Given the description of an element on the screen output the (x, y) to click on. 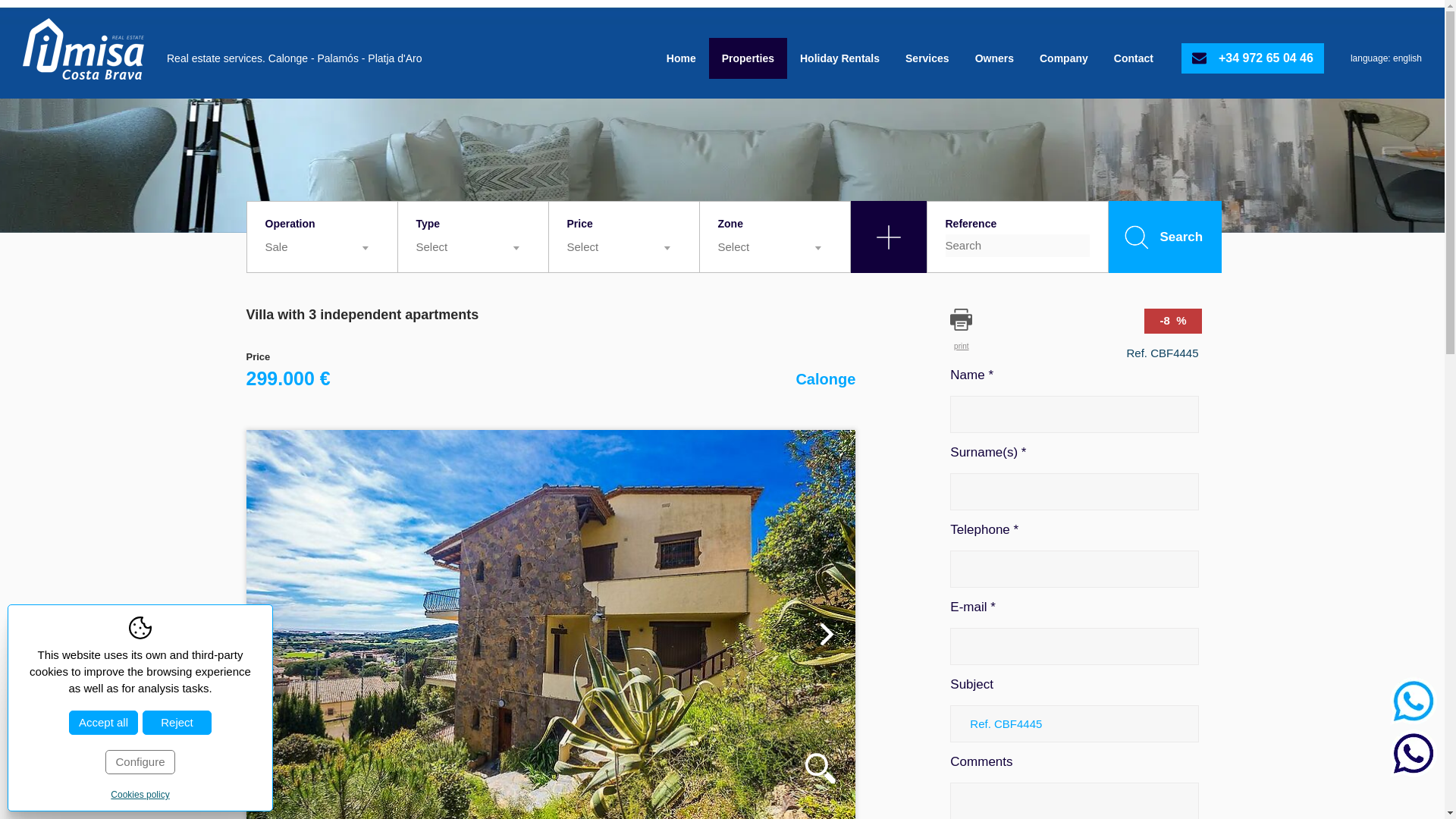
Search (1165, 236)
Company (1063, 57)
Services (927, 57)
Search (1165, 236)
Holiday Rentals (839, 57)
Home (681, 57)
Company (1063, 57)
Owners (994, 57)
Properties (748, 57)
Holiday Rentals (839, 57)
Ref. CBF4445 (1074, 723)
Properties (748, 57)
Home (681, 57)
search (888, 236)
